Given the description of an element on the screen output the (x, y) to click on. 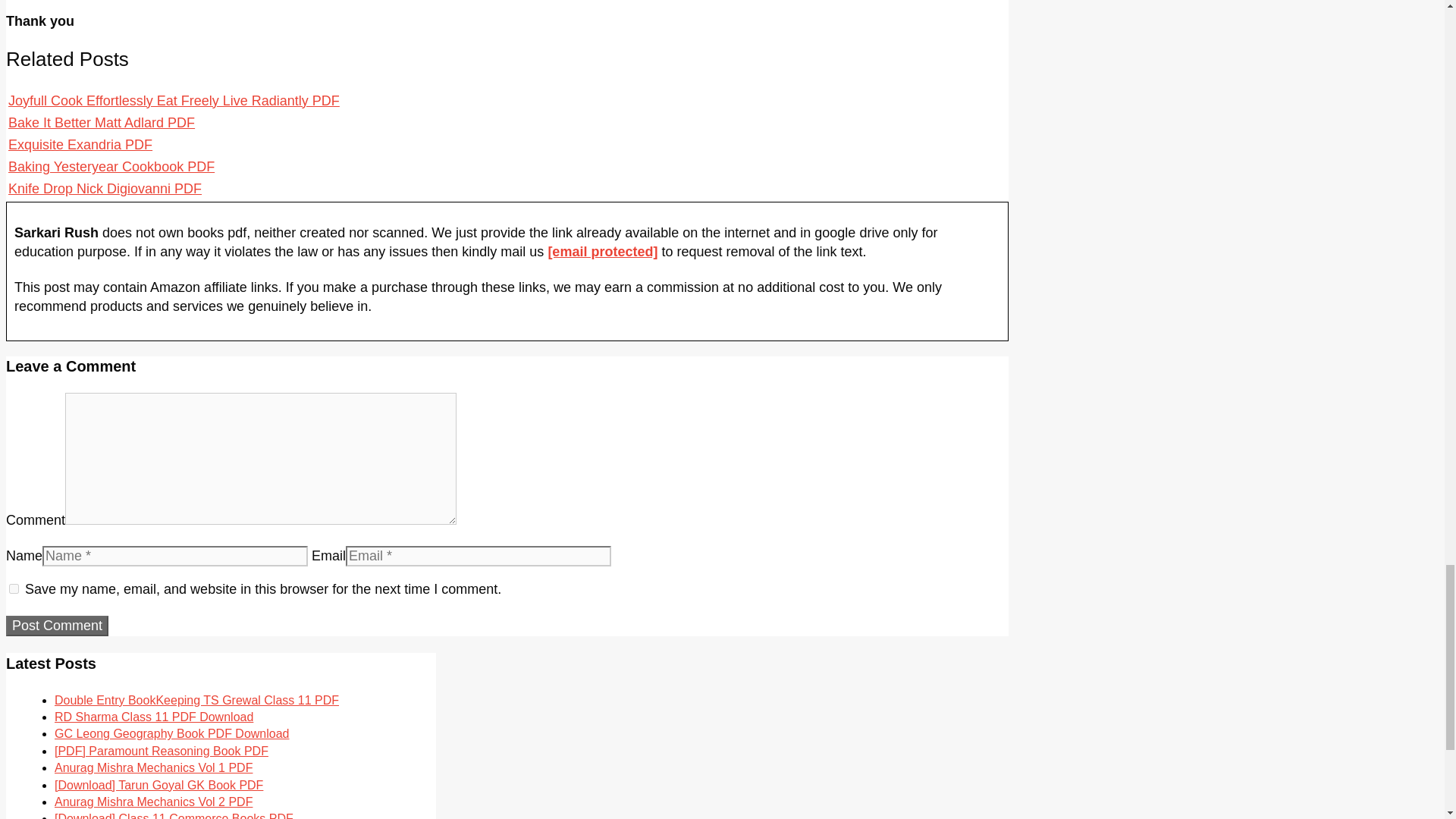
Knife Drop Nick Digiovanni PDF (105, 188)
Bake It Better Matt Adlard PDF (101, 122)
Post Comment (56, 625)
Exquisite Exandria PDF (80, 144)
Joyfull Cook Effortlessly Eat Freely Live Radiantly PDF (173, 100)
yes (13, 588)
Baking Yesteryear Cookbook PDF (111, 166)
